Given the description of an element on the screen output the (x, y) to click on. 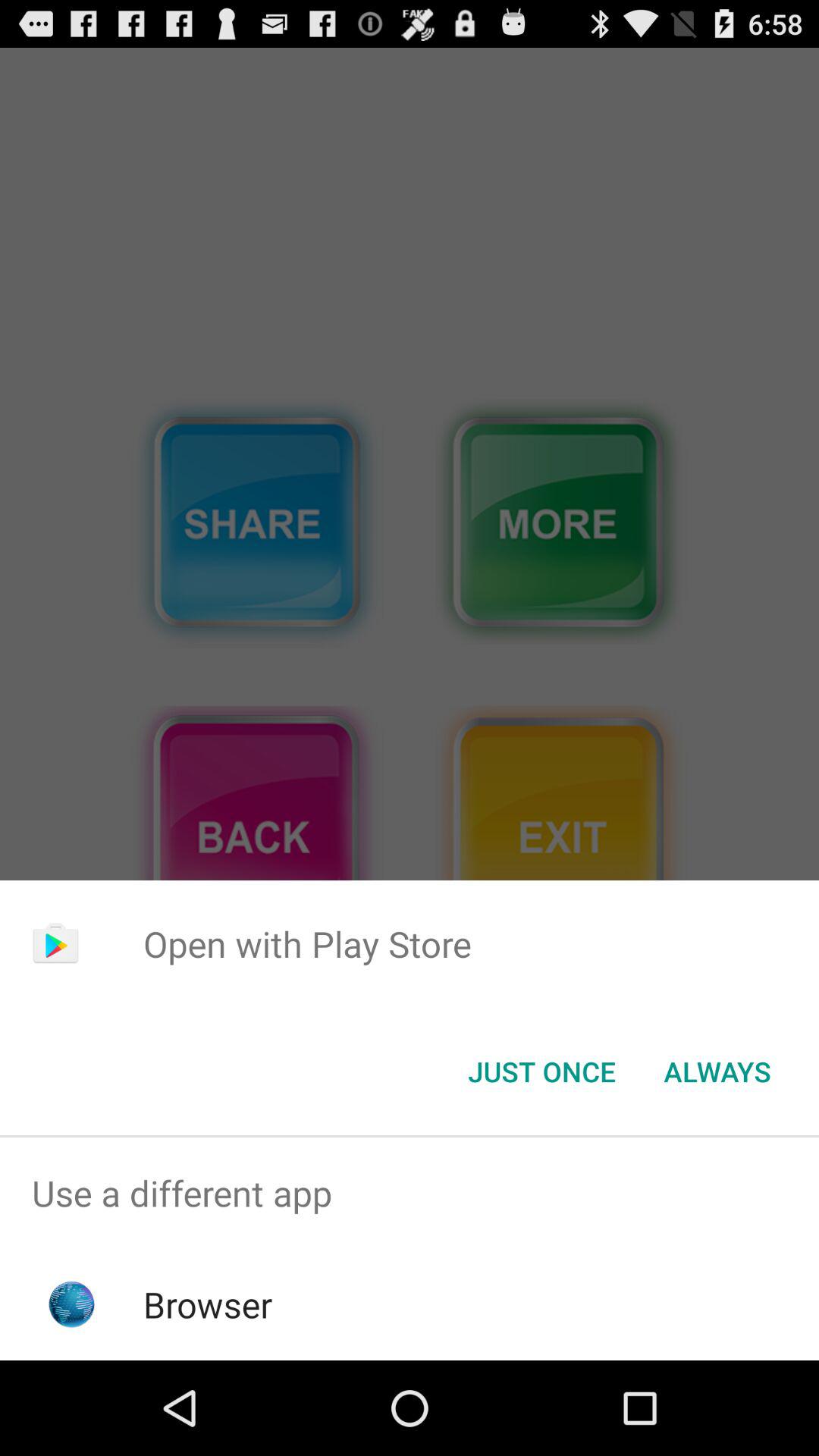
turn off the just once button (541, 1071)
